Given the description of an element on the screen output the (x, y) to click on. 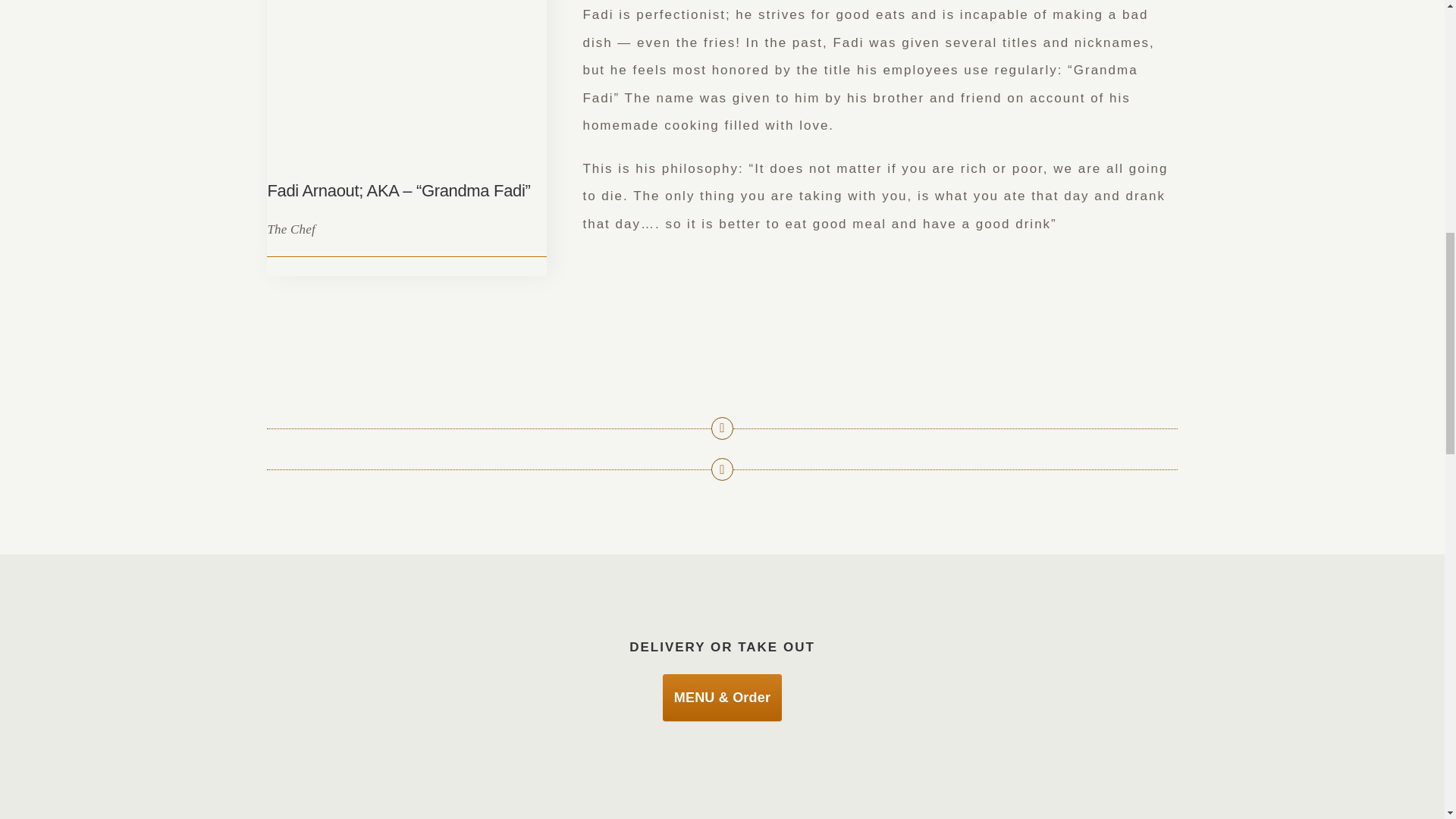
Fadi-chef (406, 82)
